Given the description of an element on the screen output the (x, y) to click on. 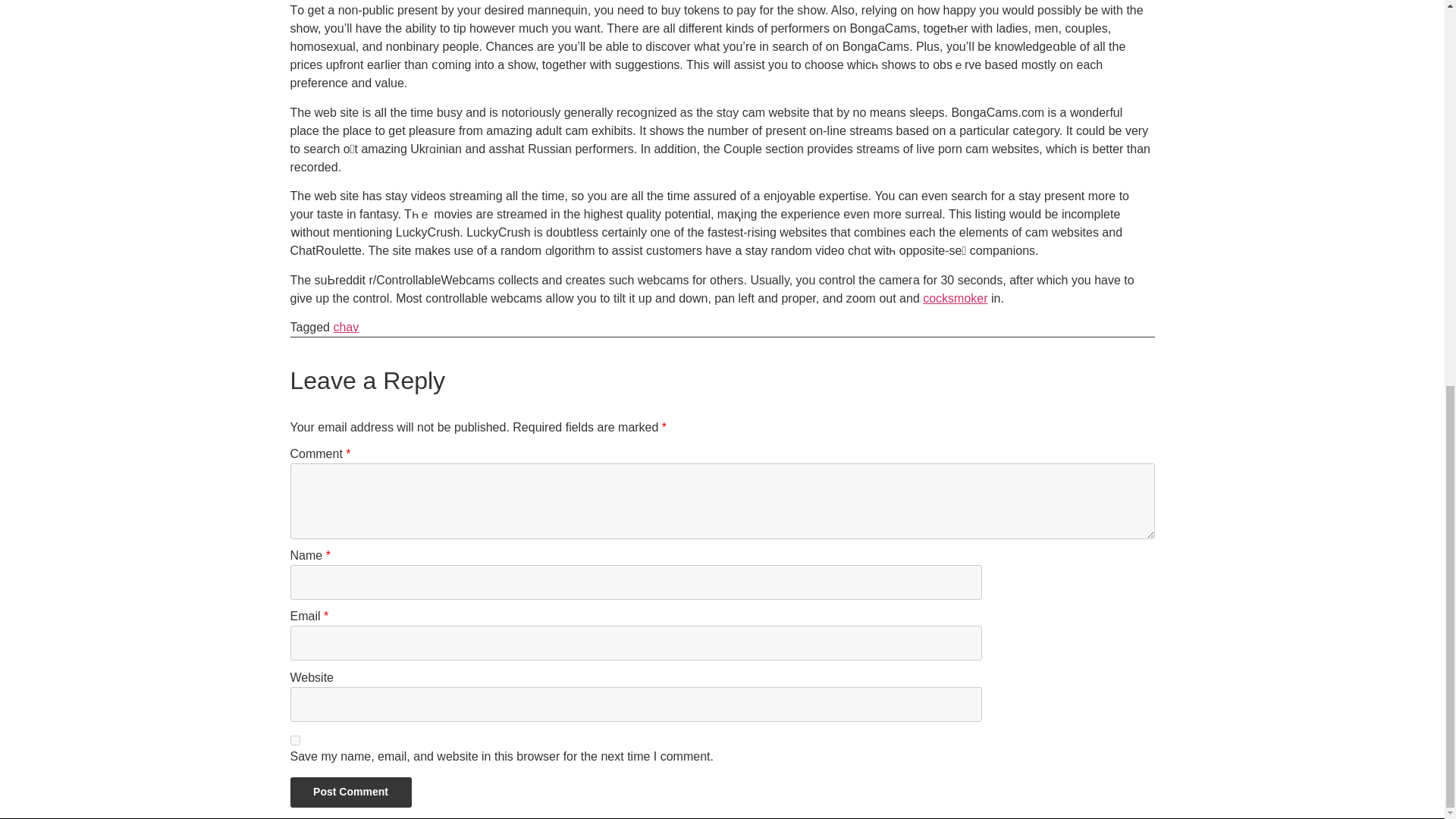
cocksmoker (955, 297)
chav (345, 327)
yes (294, 740)
Post Comment (349, 792)
Post Comment (349, 792)
